Given the description of an element on the screen output the (x, y) to click on. 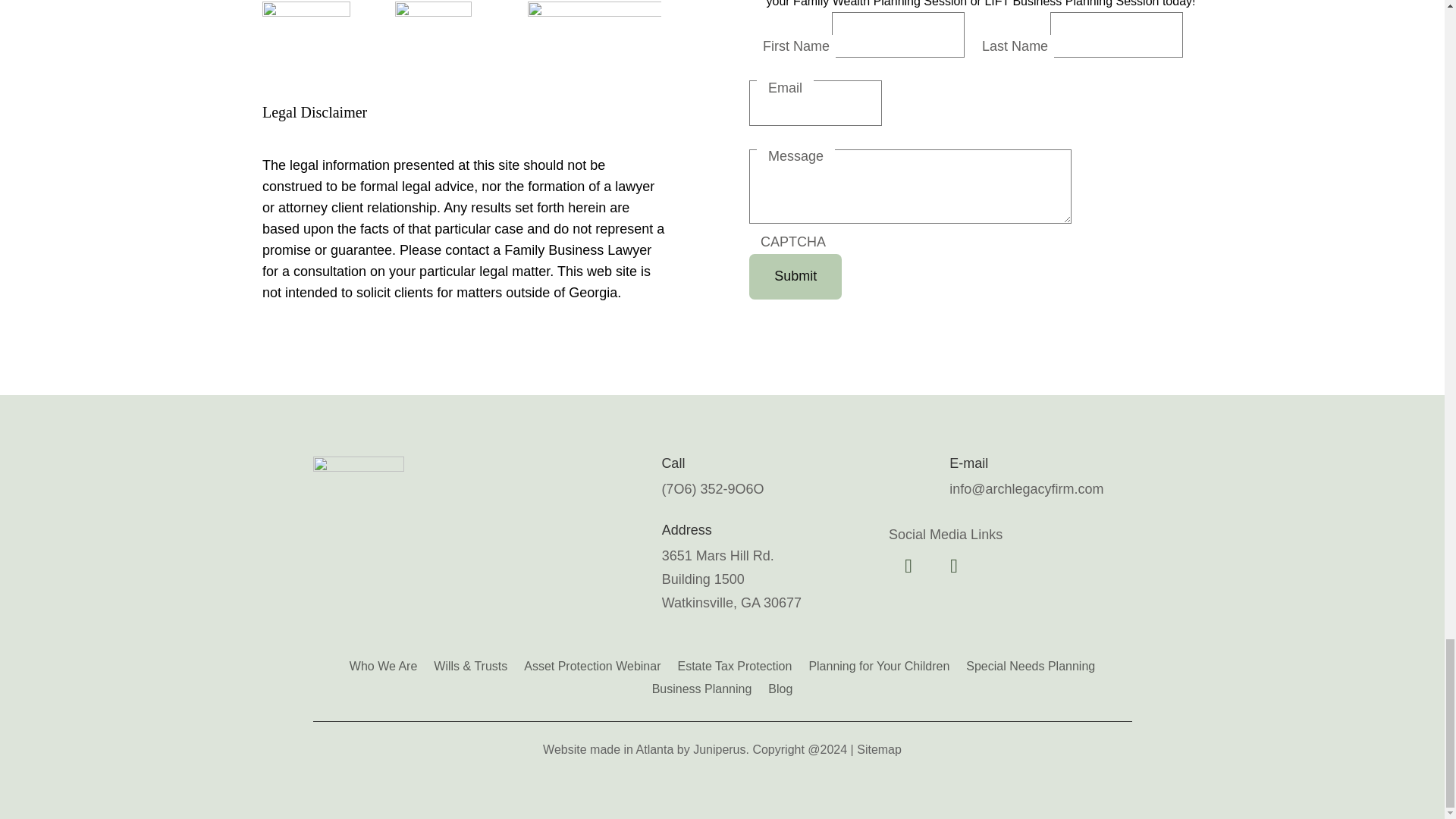
Follow on Facebook (908, 566)
Submit (795, 276)
Follow on Instagram (954, 566)
Who We Are (383, 663)
badge-ASNP-lg (432, 38)
9ce17be35ab40db128709180115c5d0c (358, 501)
2721011227218679450-300x261 (306, 38)
Submit (795, 276)
